Given the description of an element on the screen output the (x, y) to click on. 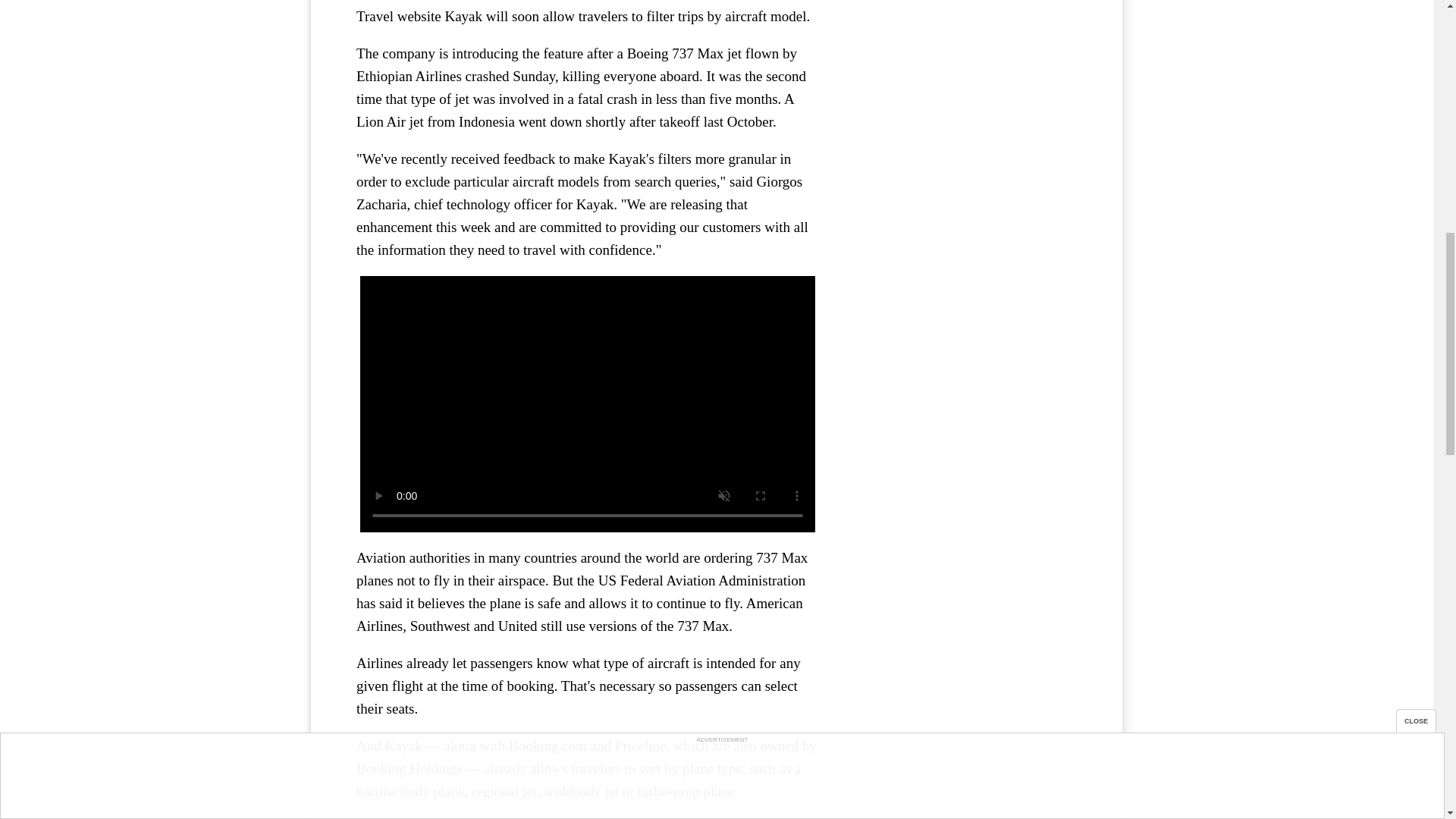
3rd party ad content (962, 74)
